Given the description of an element on the screen output the (x, y) to click on. 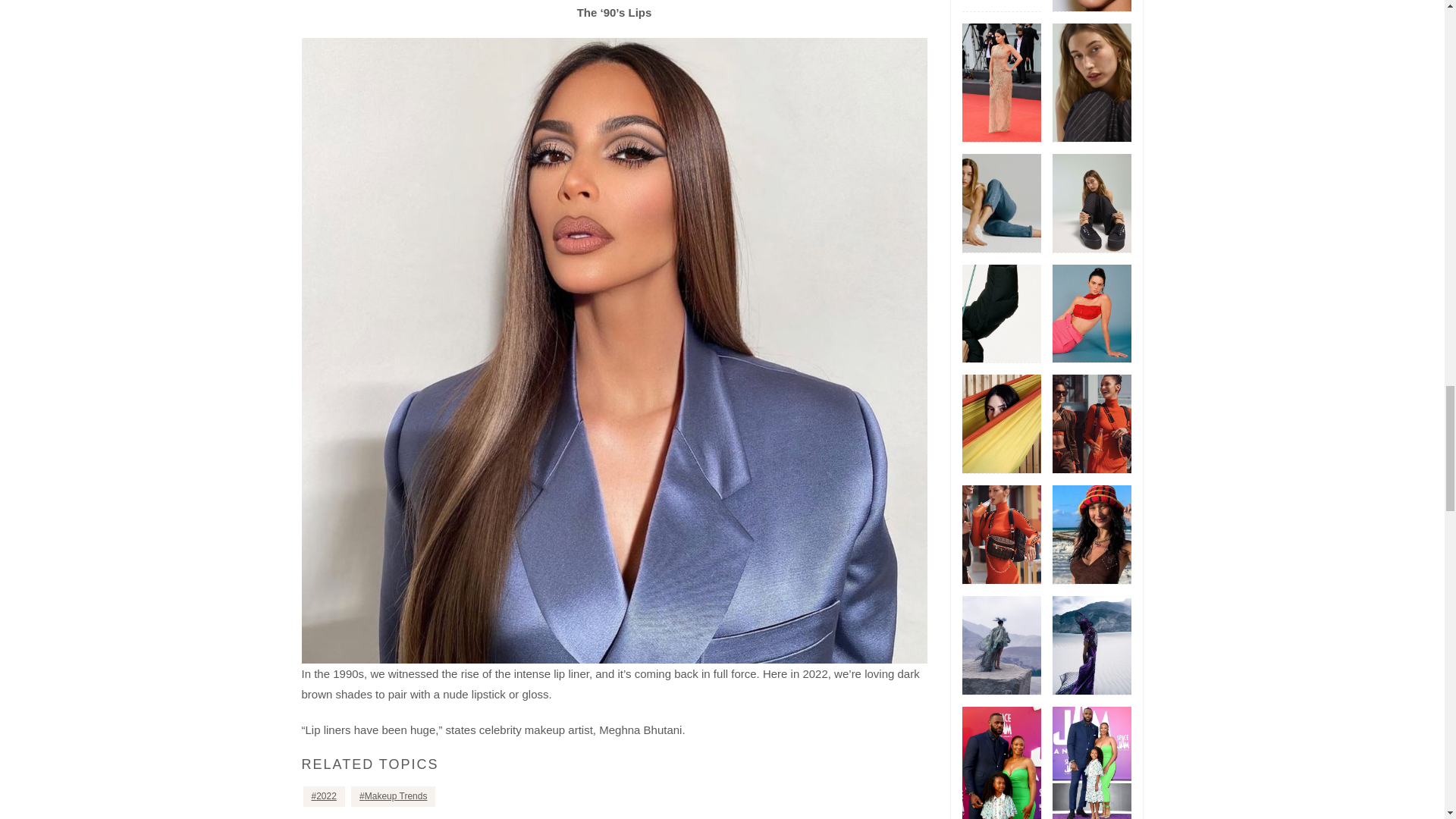
Makeup Trends (392, 796)
2022 (323, 796)
